Given the description of an element on the screen output the (x, y) to click on. 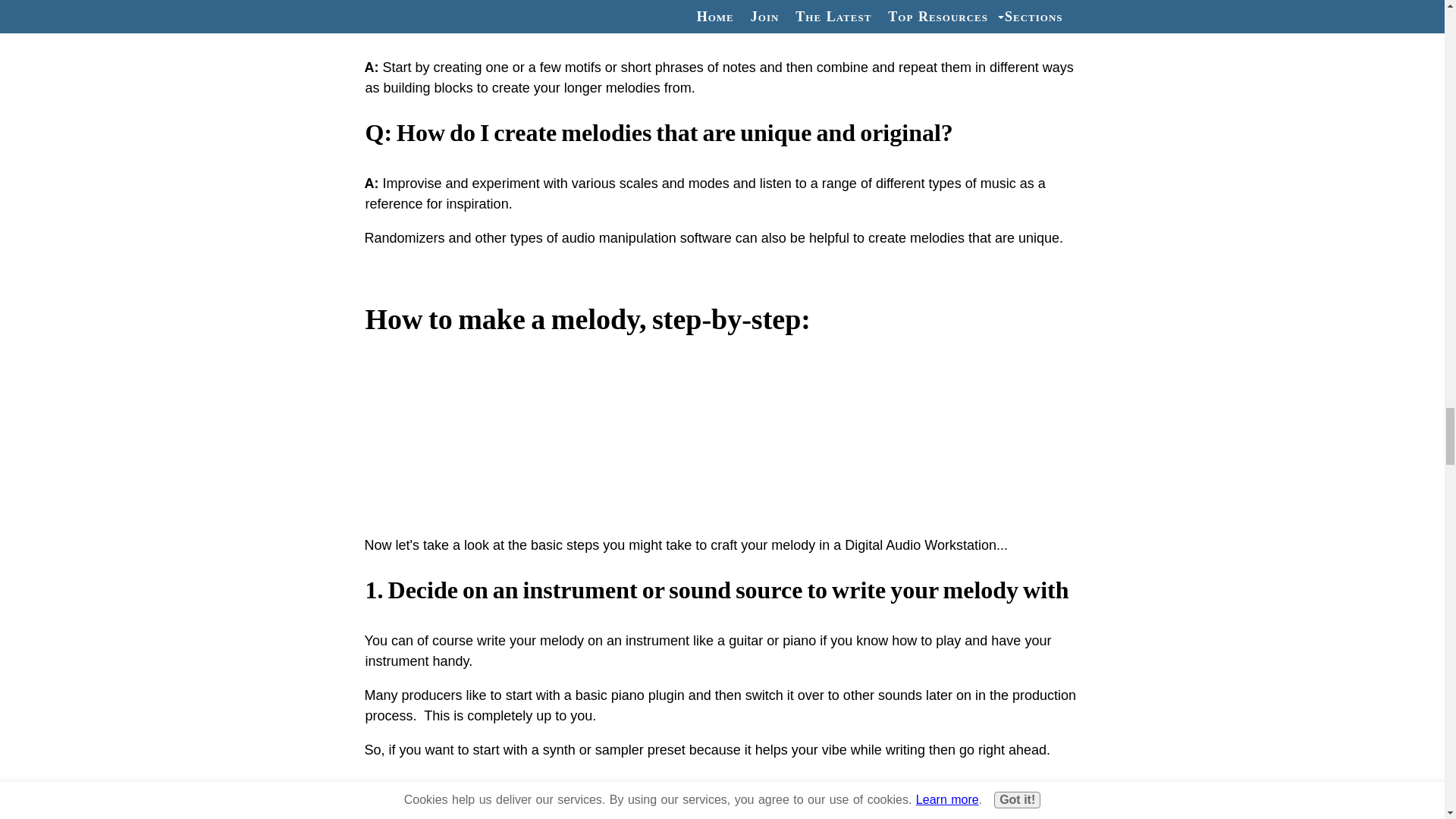
Image of hand on piano keyboard - Text "HOW-TO" (722, 433)
